Given the description of an element on the screen output the (x, y) to click on. 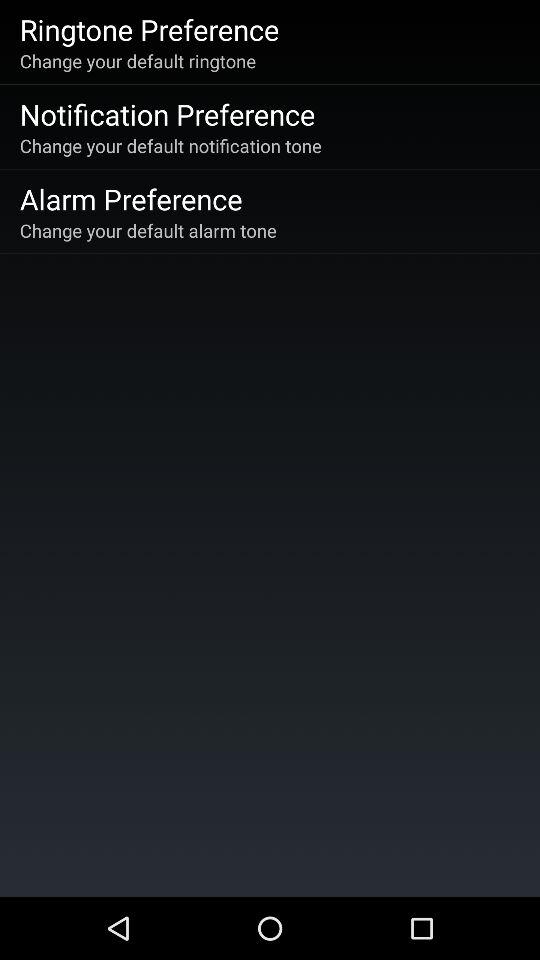
turn on item below the change your default icon (130, 198)
